Given the description of an element on the screen output the (x, y) to click on. 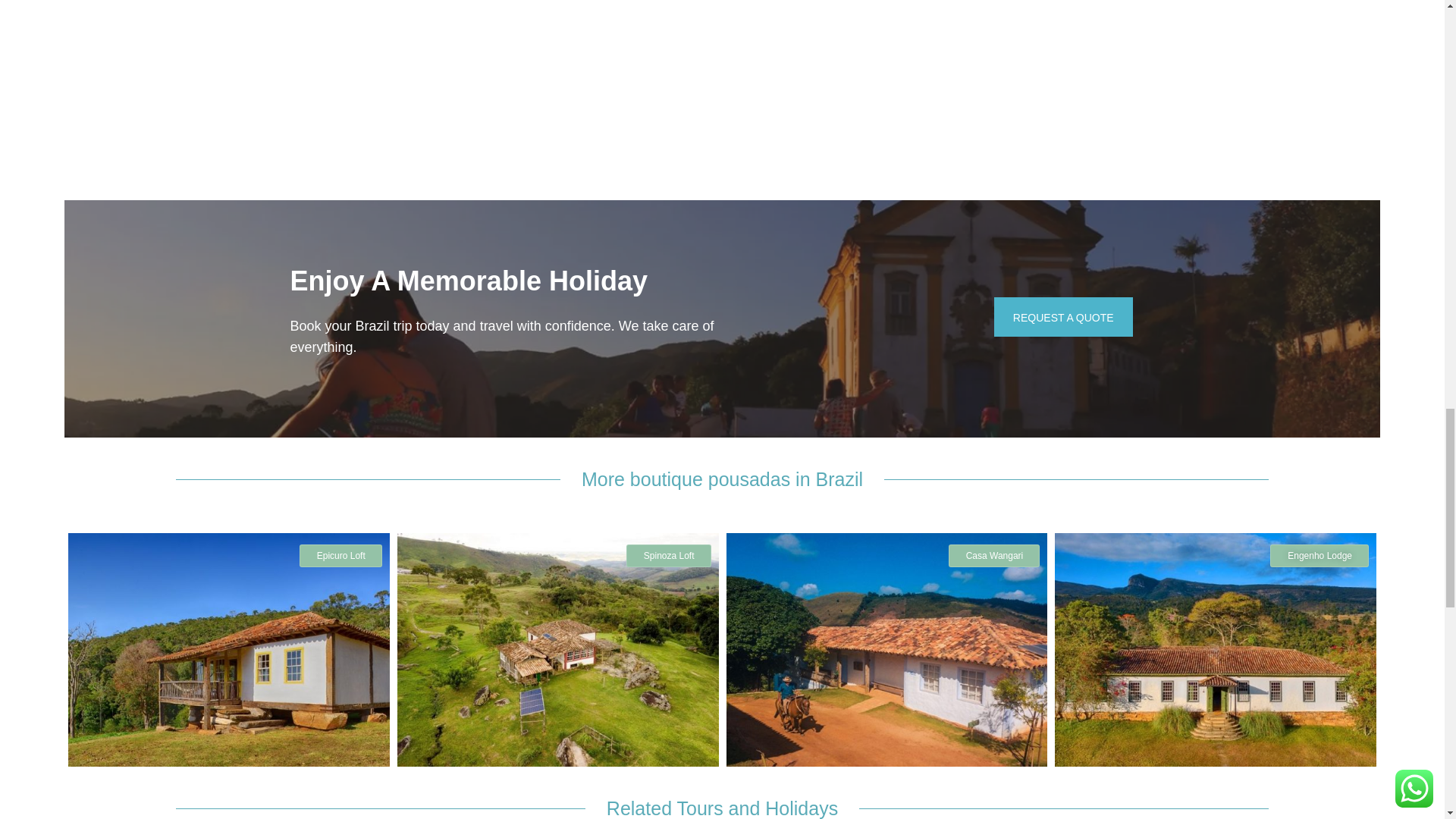
REQUEST A QUOTE (1063, 316)
Spinoza Loft (668, 555)
Epicuro Loft (340, 555)
Engenho Lodge (1318, 555)
Casa Wangari (995, 555)
